Given the description of an element on the screen output the (x, y) to click on. 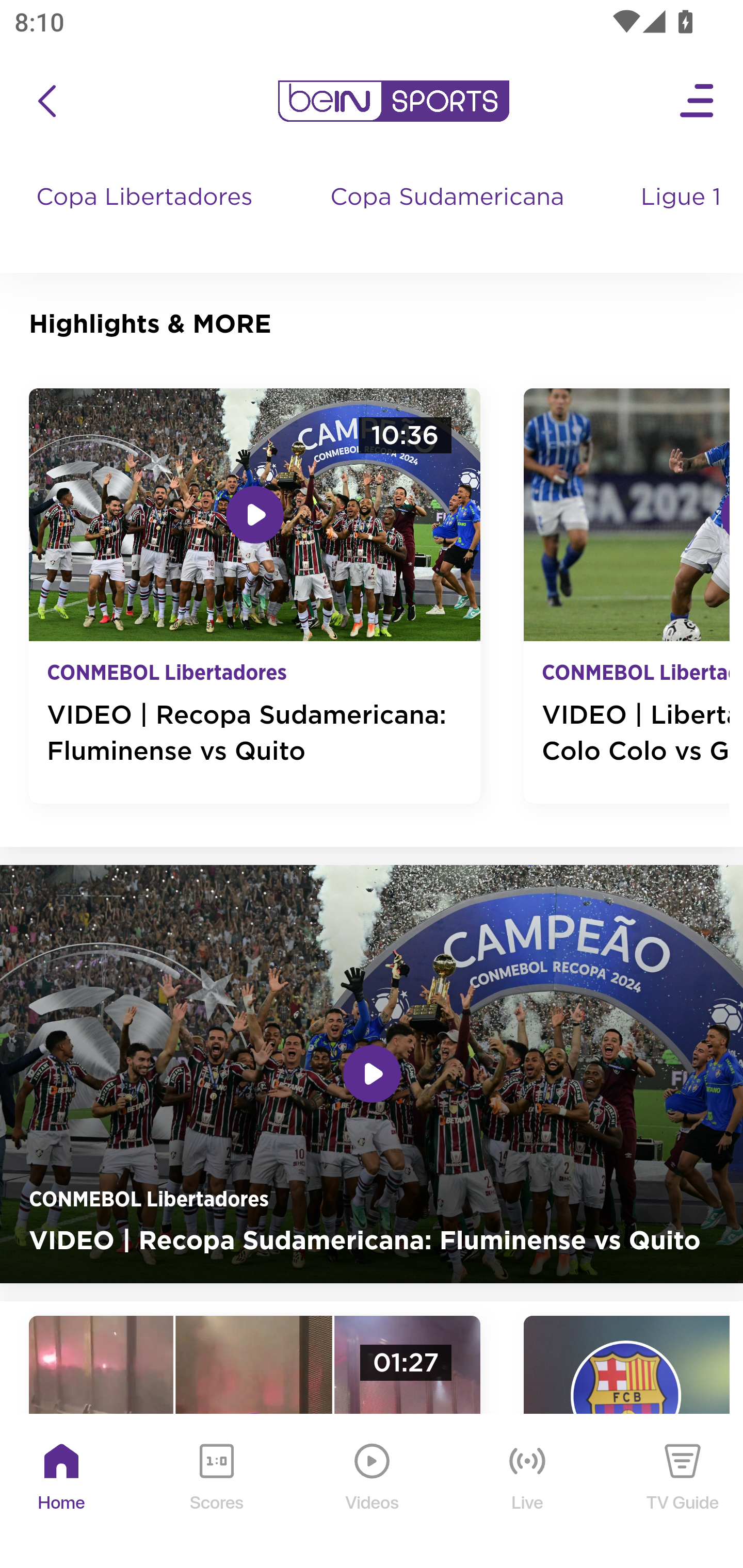
en-us?platform=mobile_android bein logo (392, 101)
icon back (46, 101)
Open Menu Icon (697, 101)
Copa Libertadores (146, 216)
Copa Sudamericana (448, 216)
Ligue 1 (682, 216)
Home Home Icon Home (61, 1491)
Scores Scores Icon Scores (216, 1491)
Videos Videos Icon Videos (372, 1491)
TV Guide TV Guide Icon TV Guide (682, 1491)
